Given the description of an element on the screen output the (x, y) to click on. 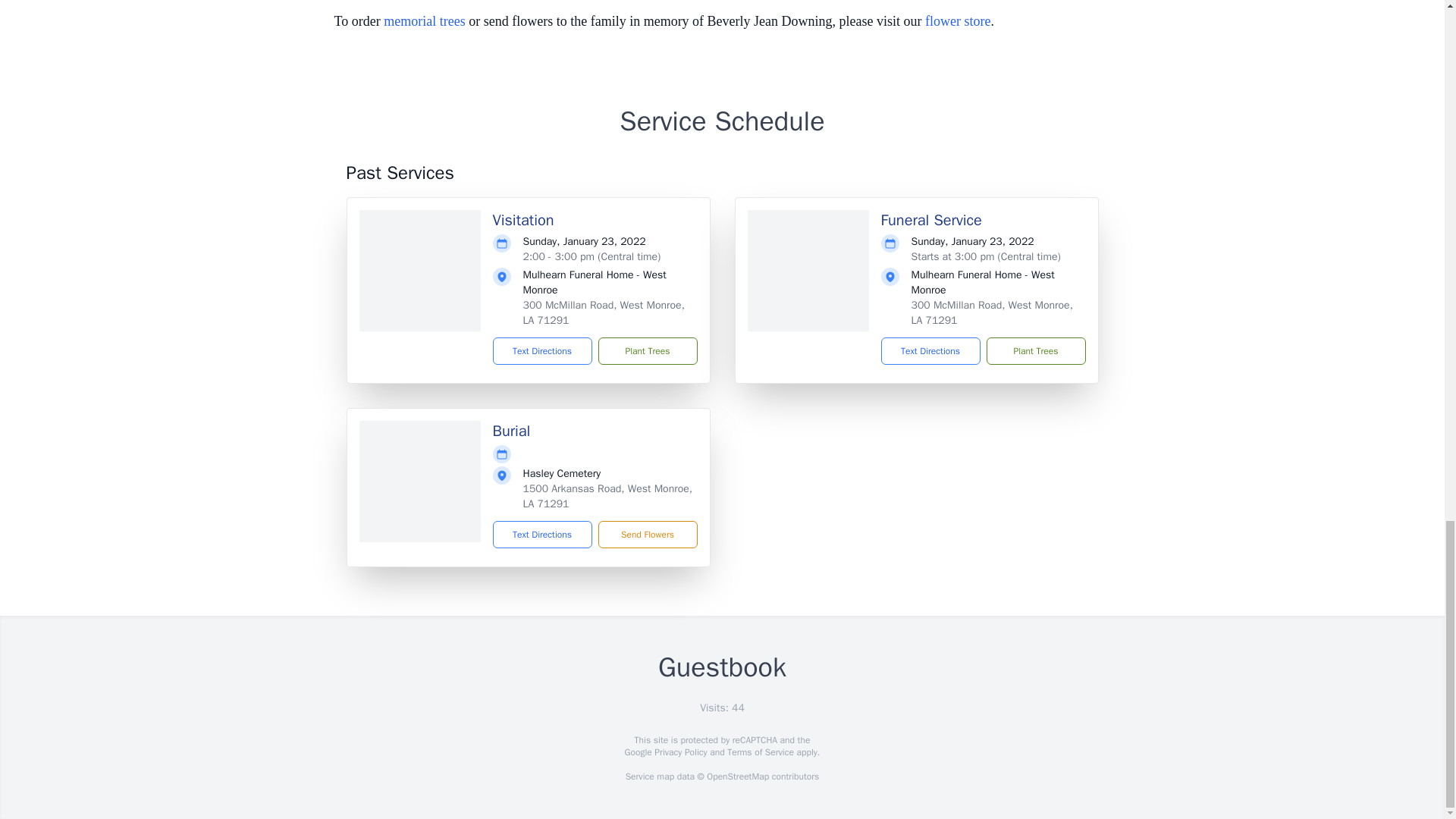
Text Directions (542, 350)
Text Directions (929, 350)
Plant Trees (646, 350)
300 McMillan Road, West Monroe, LA 71291 (603, 312)
memorial trees (424, 20)
300 McMillan Road, West Monroe, LA 71291 (992, 312)
Terms of Service (759, 752)
Text Directions (542, 533)
Send Flowers (646, 533)
Privacy Policy (679, 752)
